Given the description of an element on the screen output the (x, y) to click on. 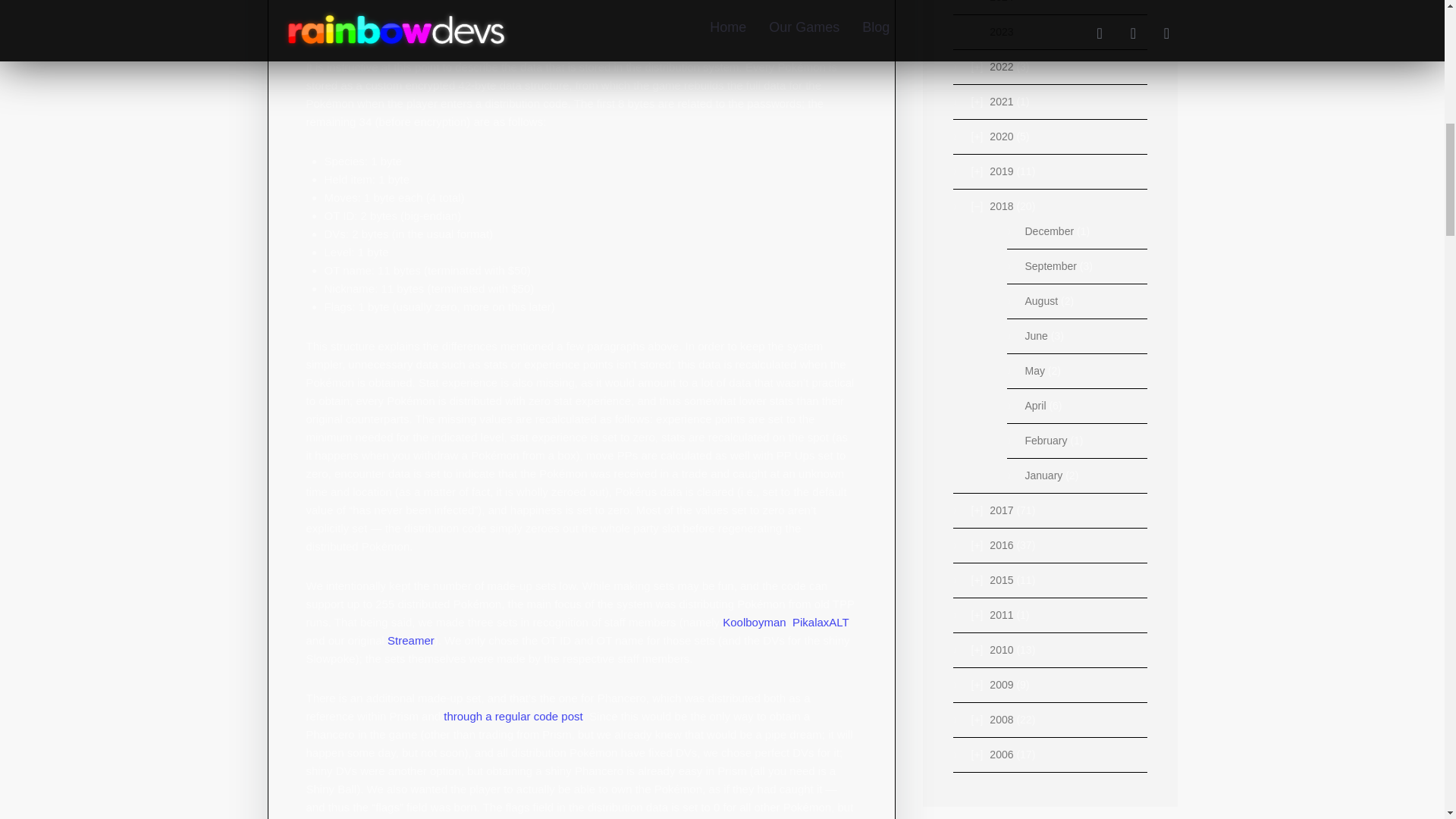
Streamer (410, 640)
Koolboyman (754, 621)
PikalaxALT (819, 621)
through a regular code post (513, 716)
